Given the description of an element on the screen output the (x, y) to click on. 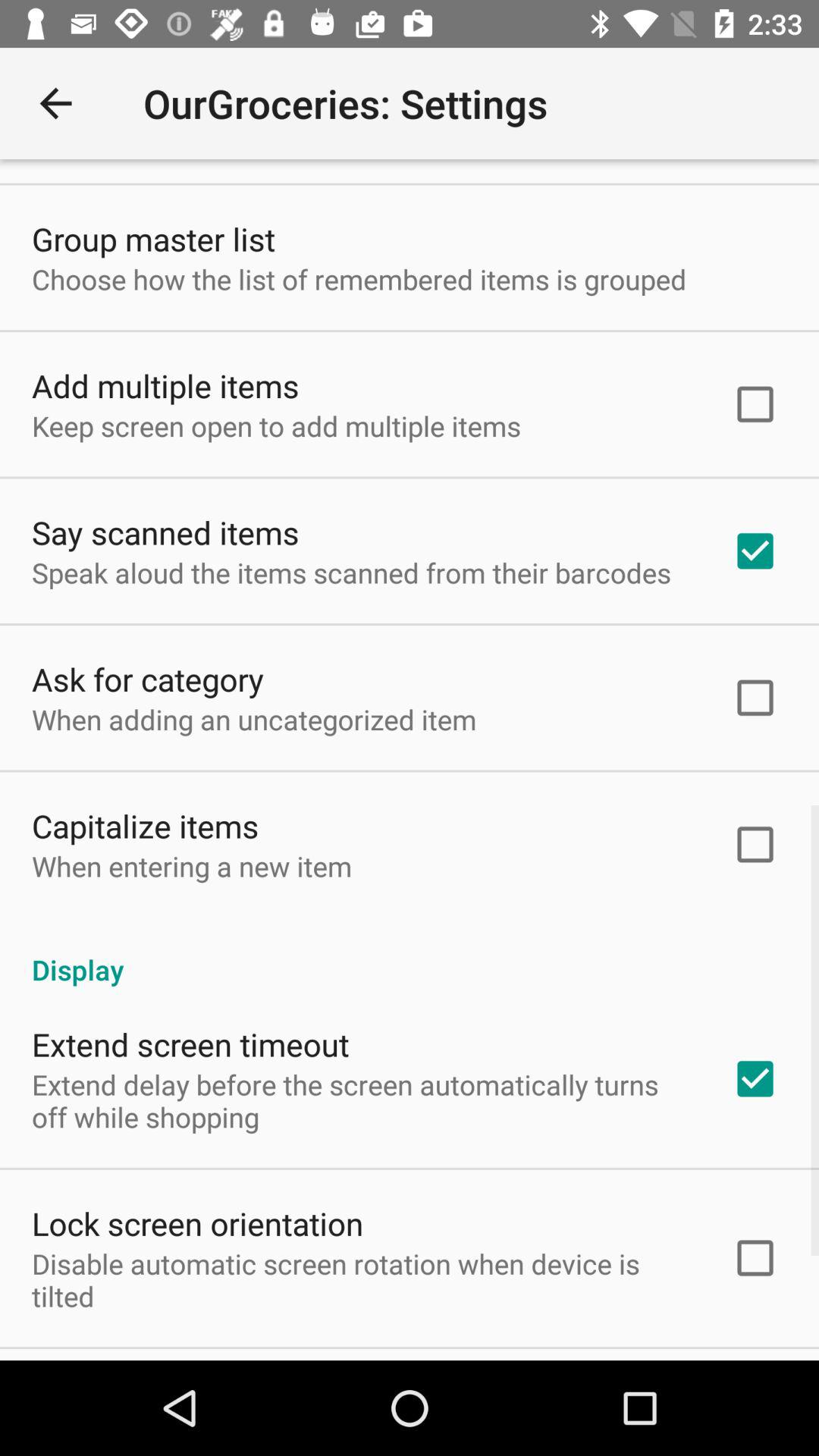
click item below lock screen orientation icon (361, 1279)
